Given the description of an element on the screen output the (x, y) to click on. 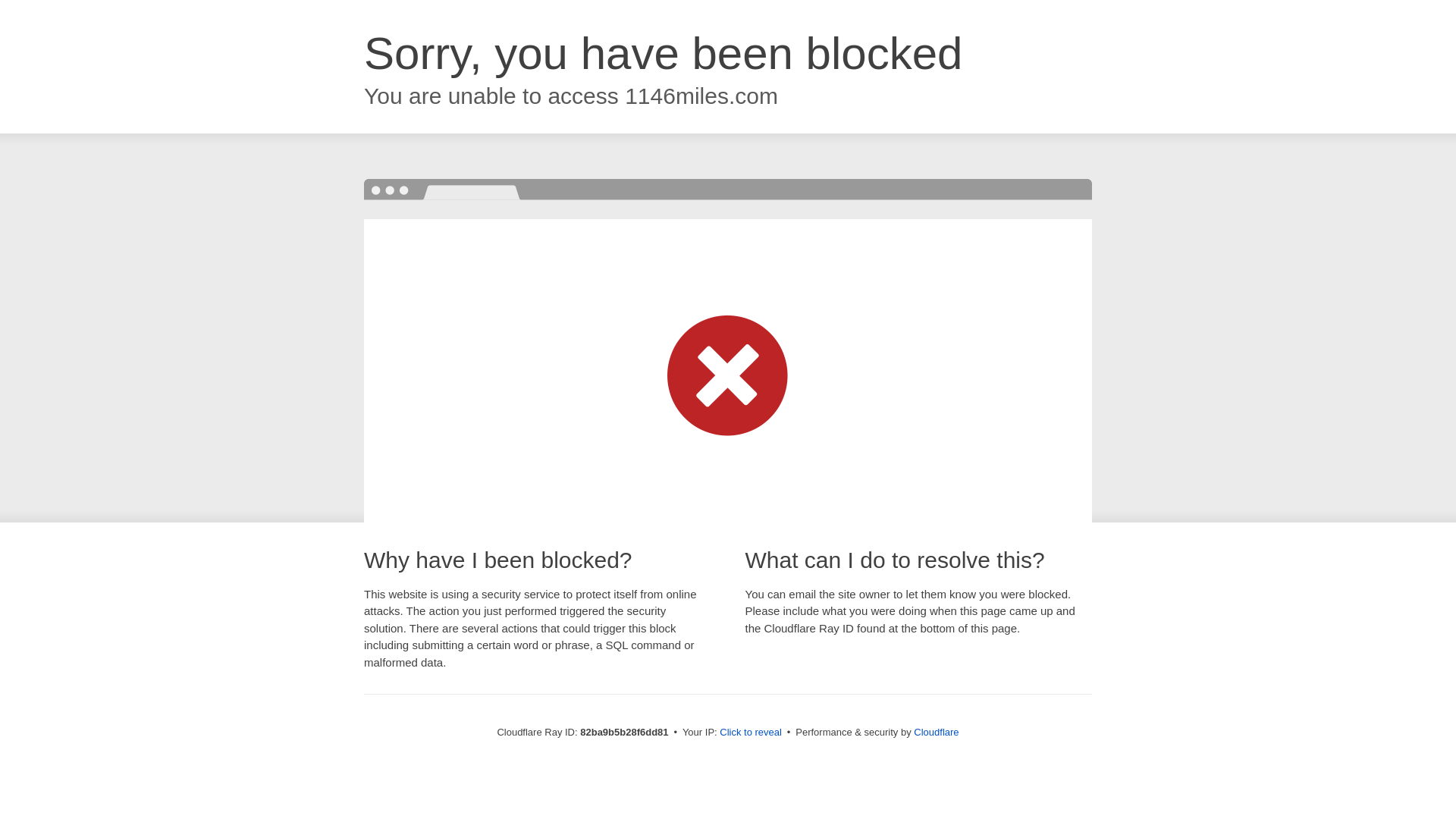
Cloudflare Element type: text (935, 731)
Click to reveal Element type: text (750, 732)
